Given the description of an element on the screen output the (x, y) to click on. 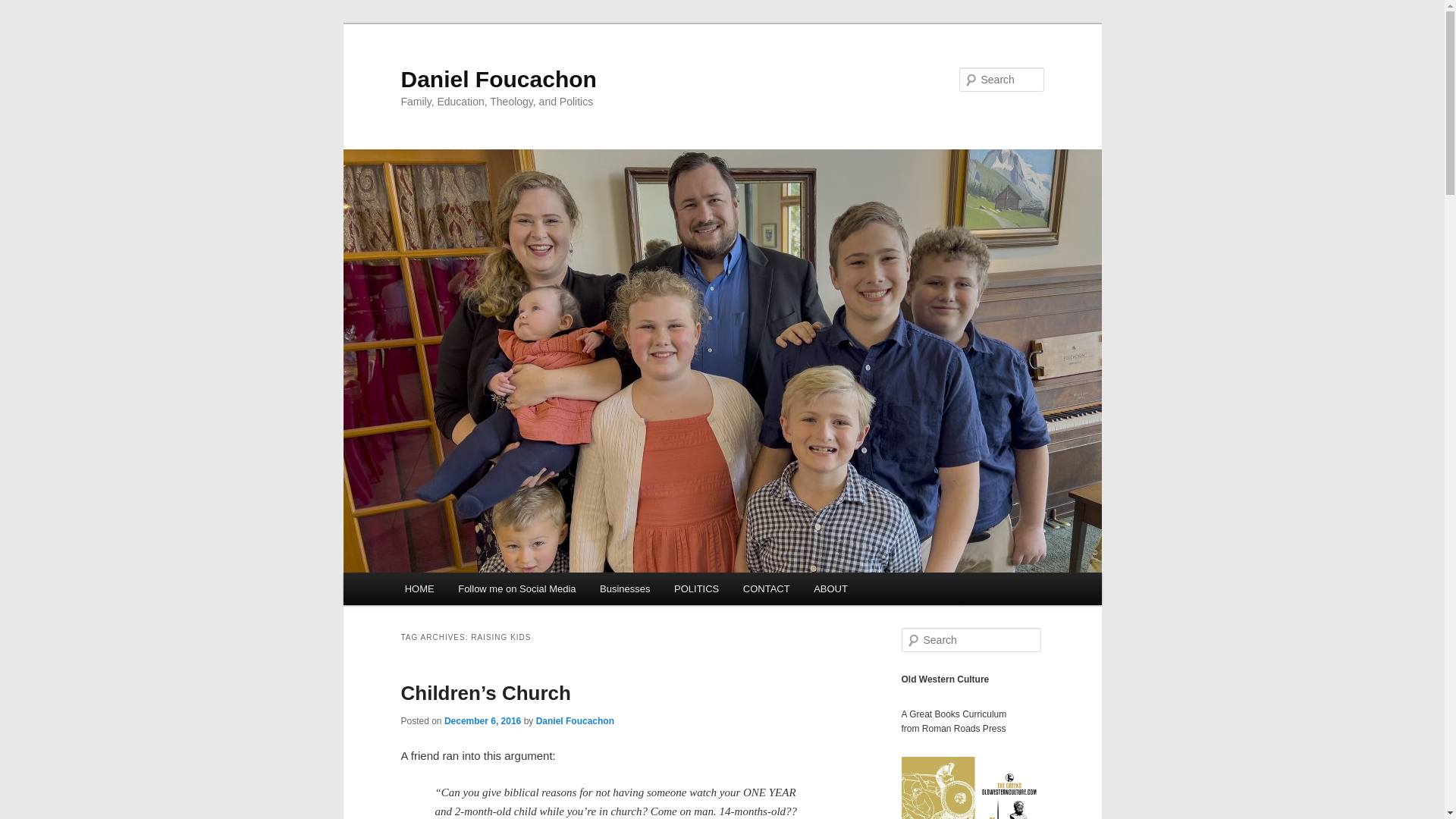
View all posts by Daniel Foucachon (574, 720)
CONTACT (766, 588)
Search (24, 8)
Search (21, 11)
ABOUT (830, 588)
Follow me on Social Media (516, 588)
Daniel Foucachon (497, 78)
Businesses (625, 588)
December 6, 2016 (482, 720)
11:14 pm (482, 720)
POLITICS (696, 588)
Daniel Foucachon (574, 720)
HOME (419, 588)
